Given the description of an element on the screen output the (x, y) to click on. 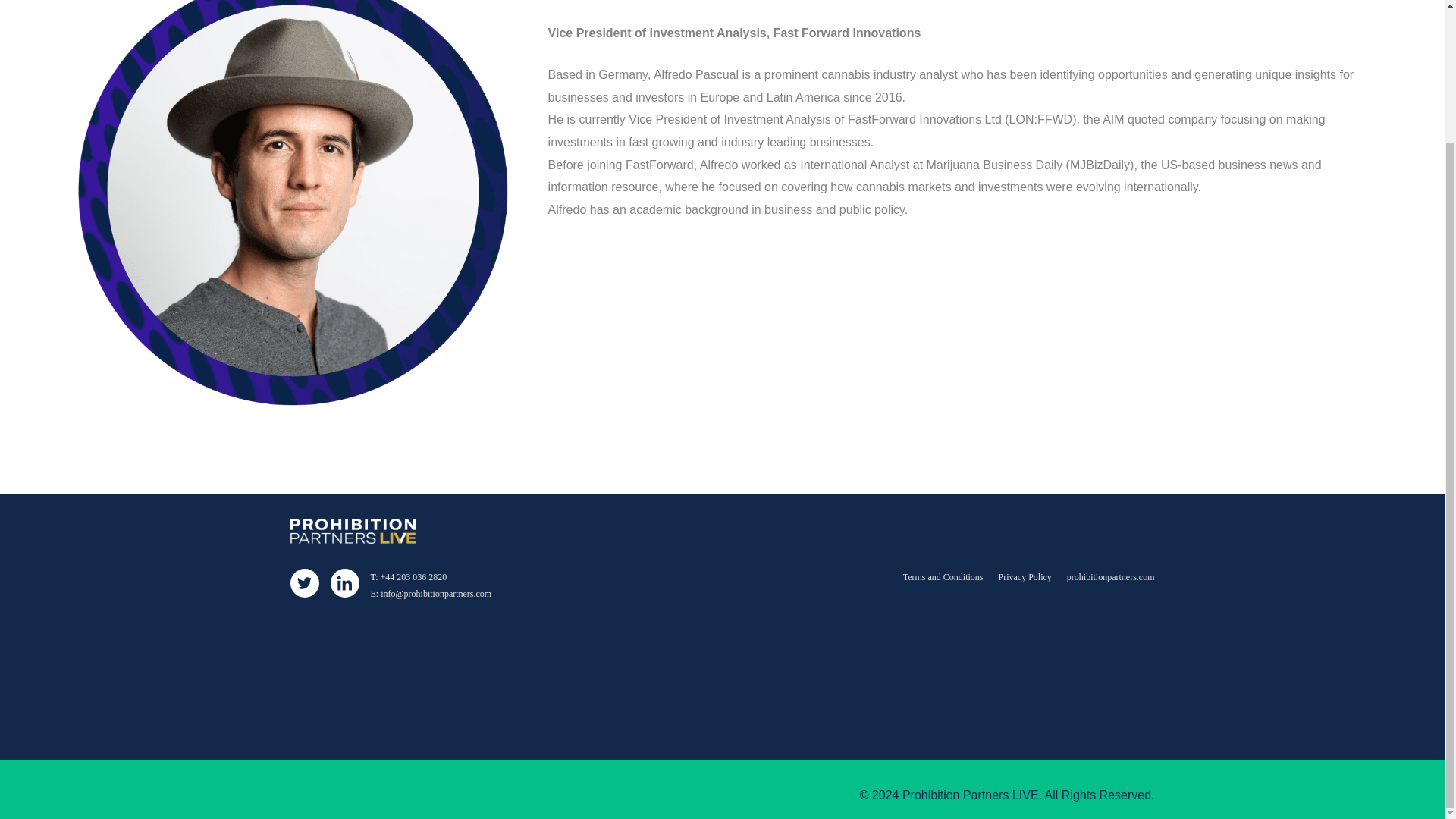
Terms and Conditions (943, 576)
prohibitionpartners.com (1110, 576)
Privacy Policy (1024, 576)
